Given the description of an element on the screen output the (x, y) to click on. 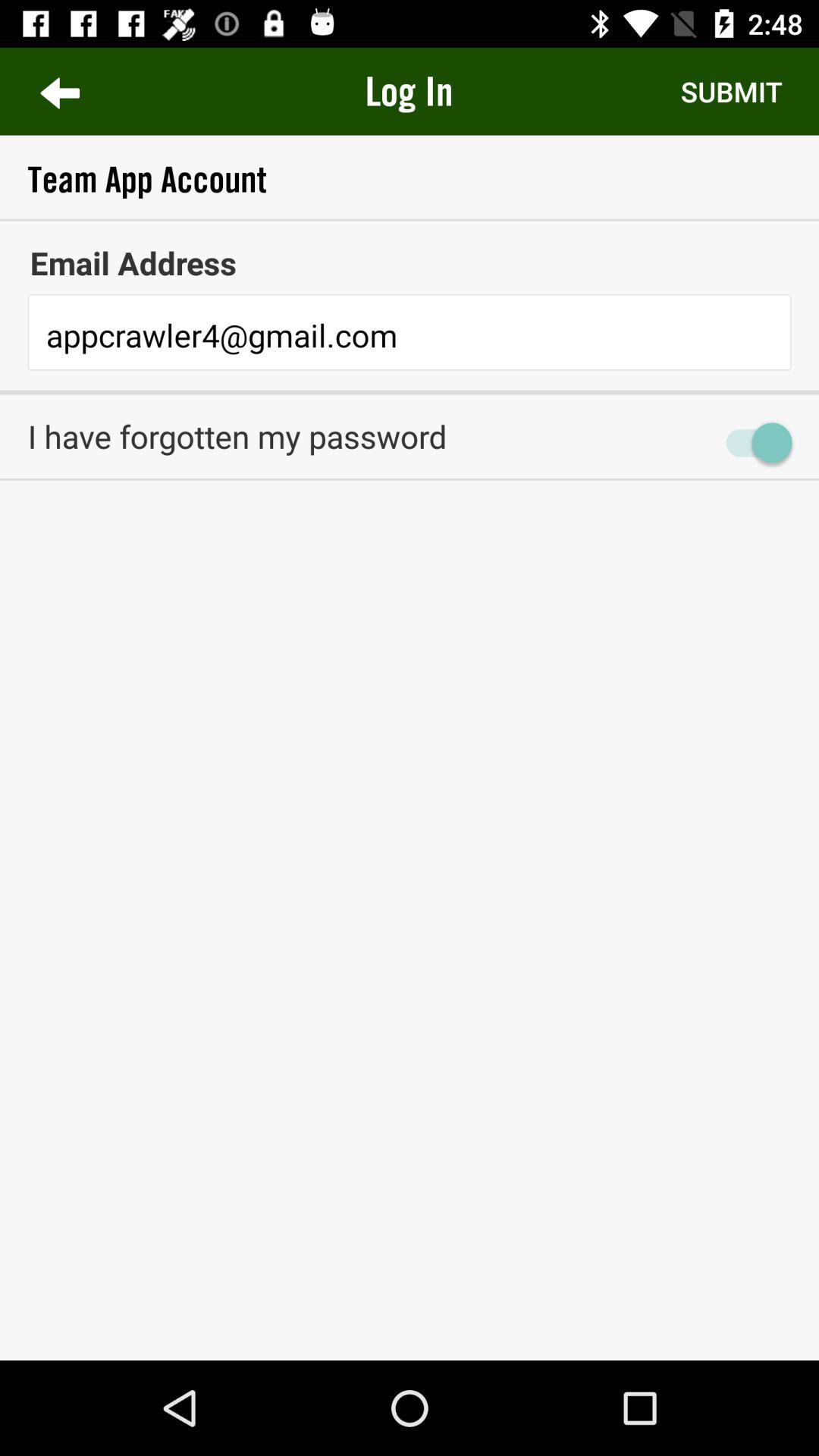
swipe to the appcrawler4@gmail.com item (409, 336)
